Given the description of an element on the screen output the (x, y) to click on. 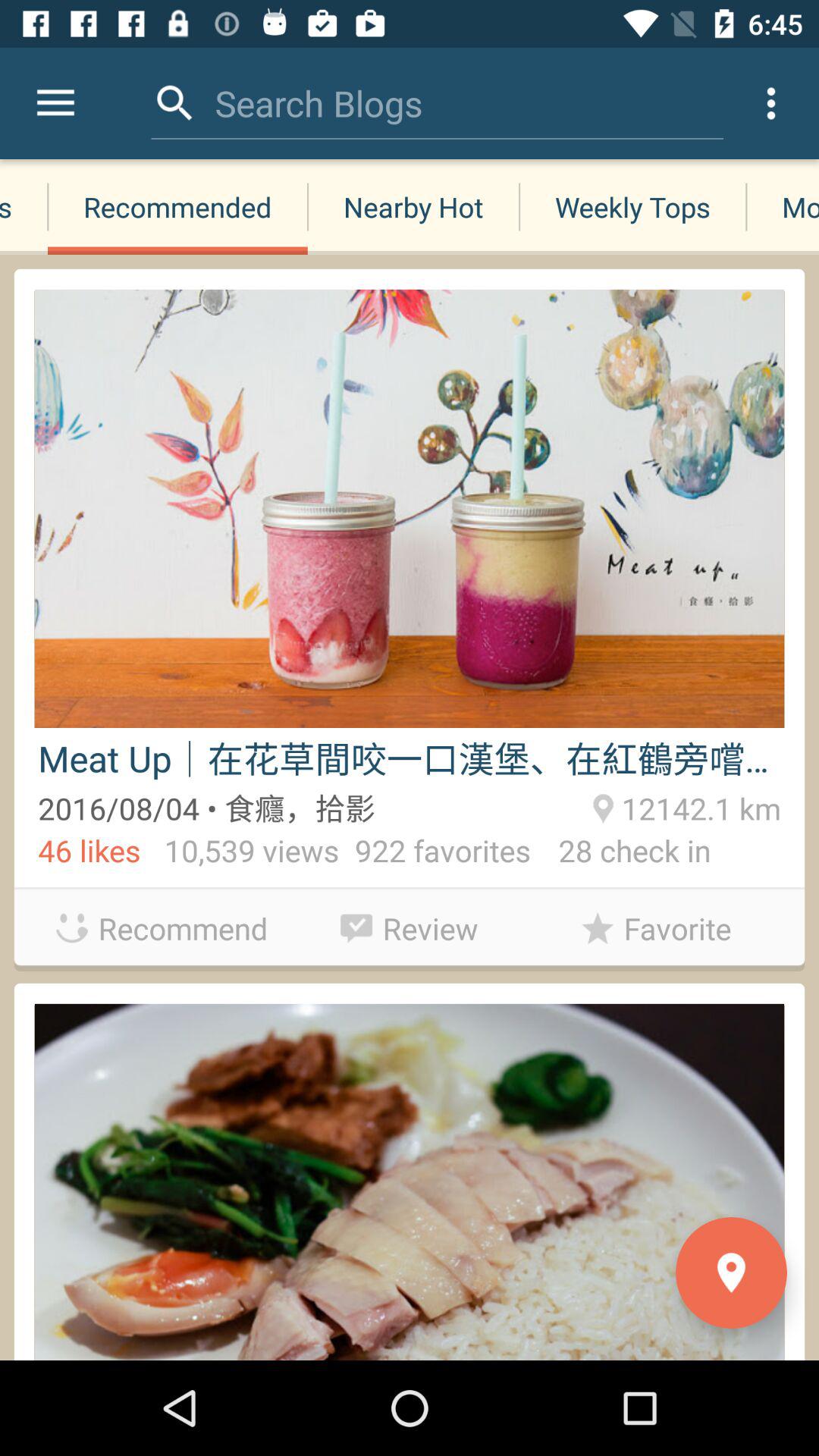
swipe to favorite item (656, 928)
